Given the description of an element on the screen output the (x, y) to click on. 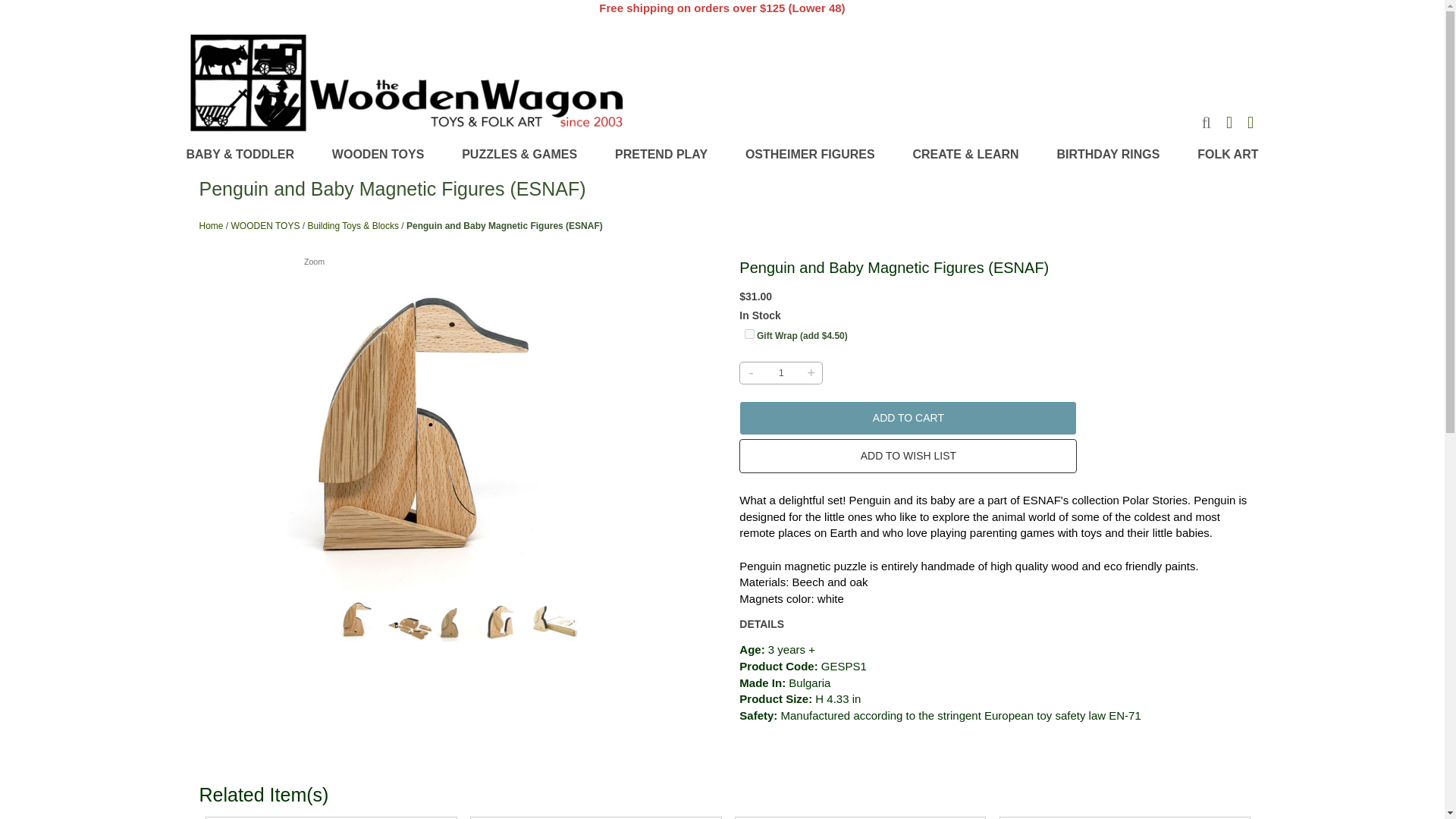
1 (780, 372)
WOODEN TOYS (378, 154)
on (749, 334)
Add to Wish List (908, 455)
